Given the description of an element on the screen output the (x, y) to click on. 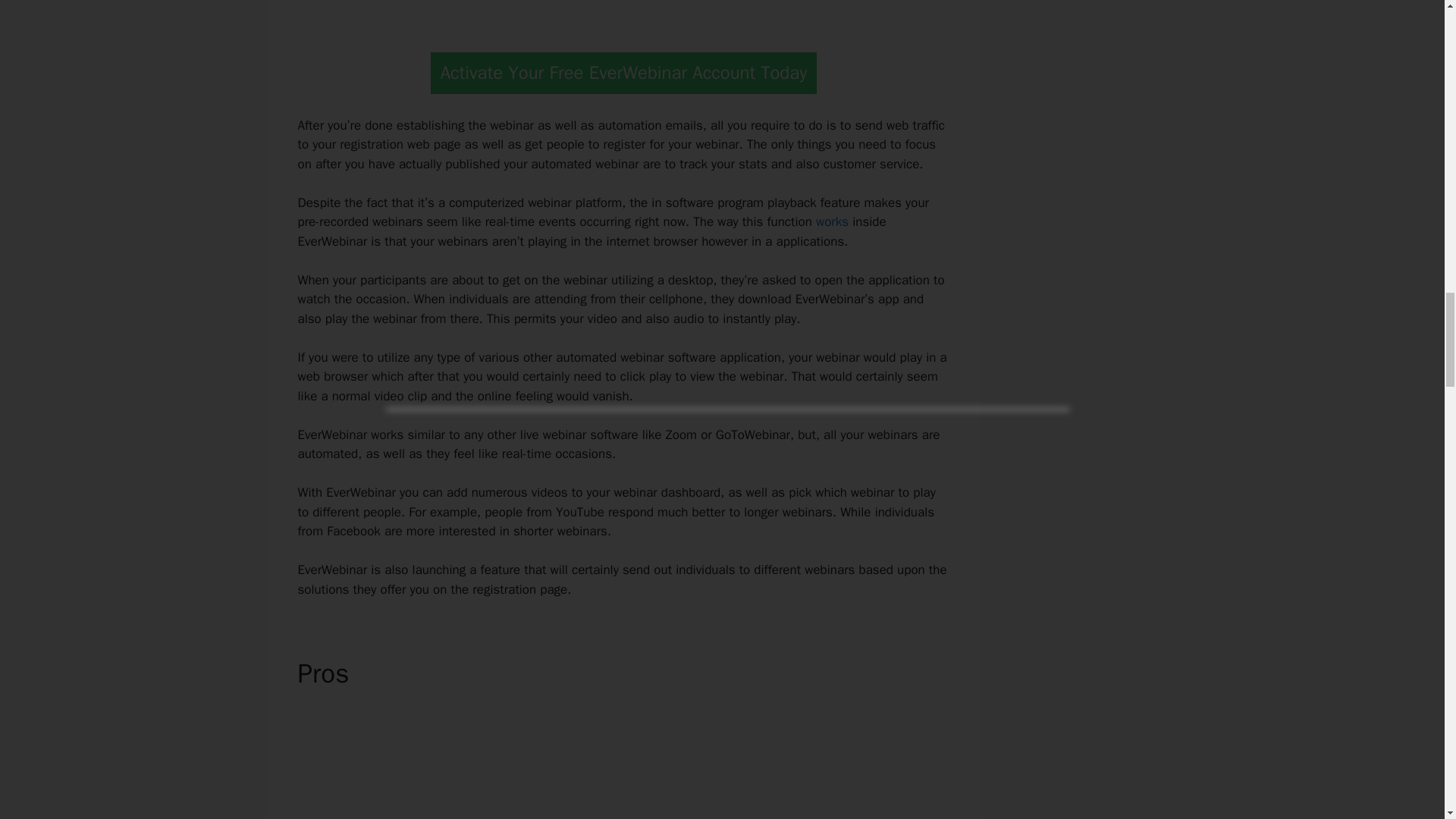
works (831, 221)
Activate Your Free EverWebinar Account Today (623, 73)
YouTube video player (619, 12)
